Given the description of an element on the screen output the (x, y) to click on. 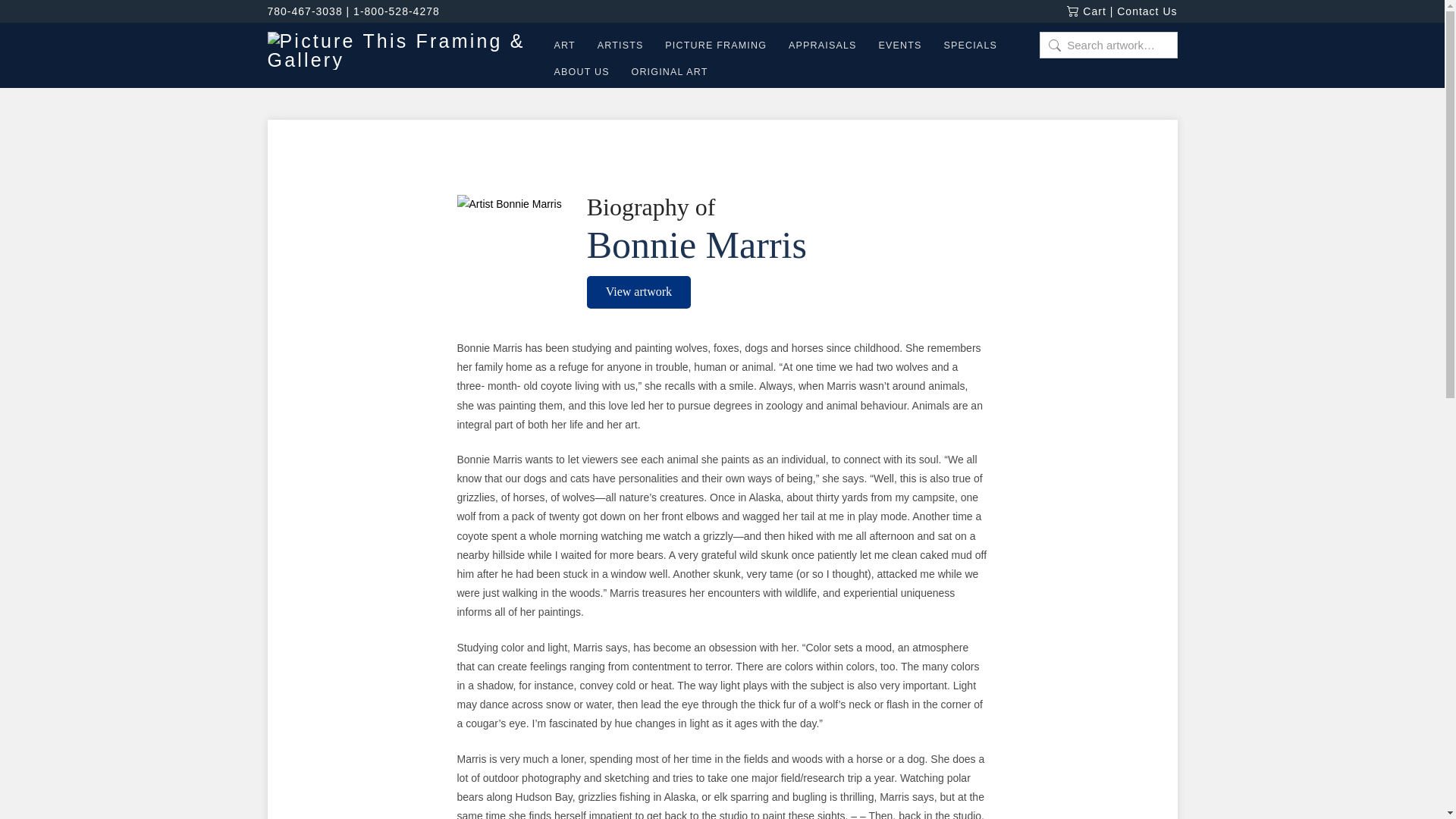
Contact Us (1146, 10)
ORIGINAL ART (663, 73)
Search (33, 17)
SPECIALS (969, 47)
1-800-528-4278 (396, 10)
ARTISTS (619, 47)
APPRAISALS (822, 47)
EVENTS (898, 47)
View artwork (638, 292)
ABOUT US (580, 73)
PICTURE FRAMING (715, 47)
ART (563, 47)
Cart (1086, 10)
780-467-3038 (304, 10)
